Given the description of an element on the screen output the (x, y) to click on. 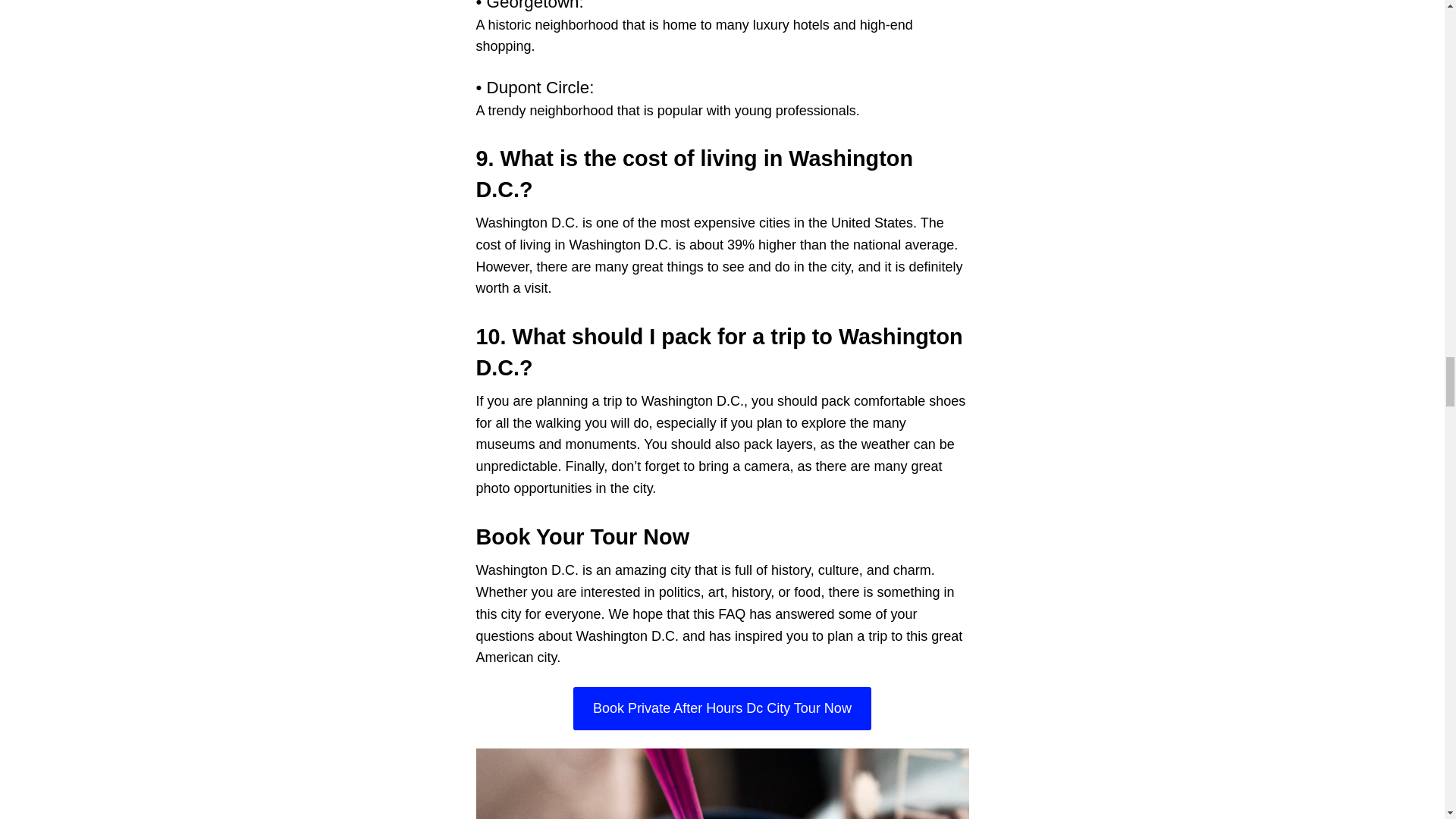
Book Private After Hours Dc City Tour Now (721, 708)
